Given the description of an element on the screen output the (x, y) to click on. 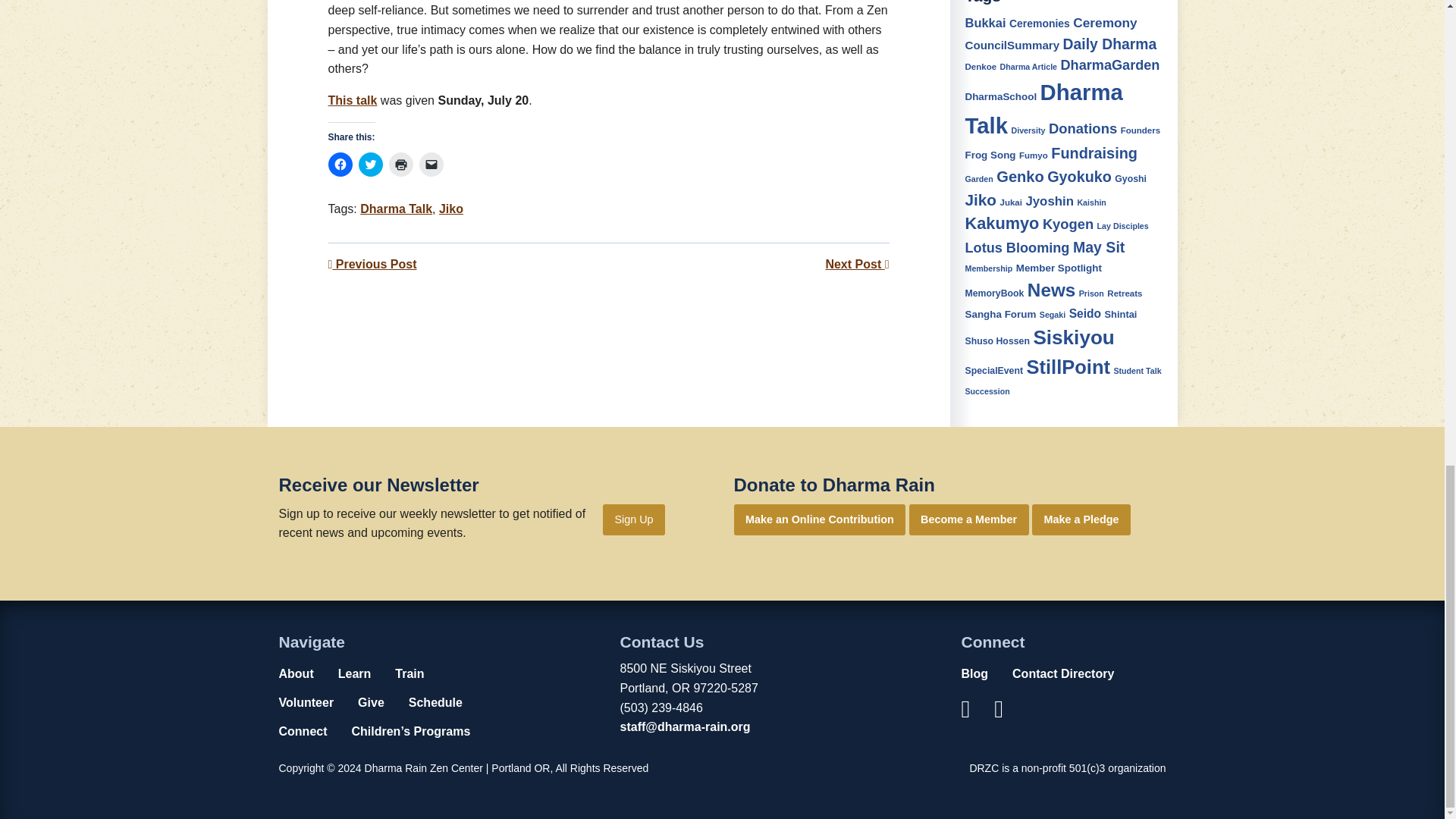
Click to share on Twitter (369, 164)
Click to print (400, 164)
Click to share on Facebook (339, 164)
Click to email a link to a friend (430, 164)
